Given the description of an element on the screen output the (x, y) to click on. 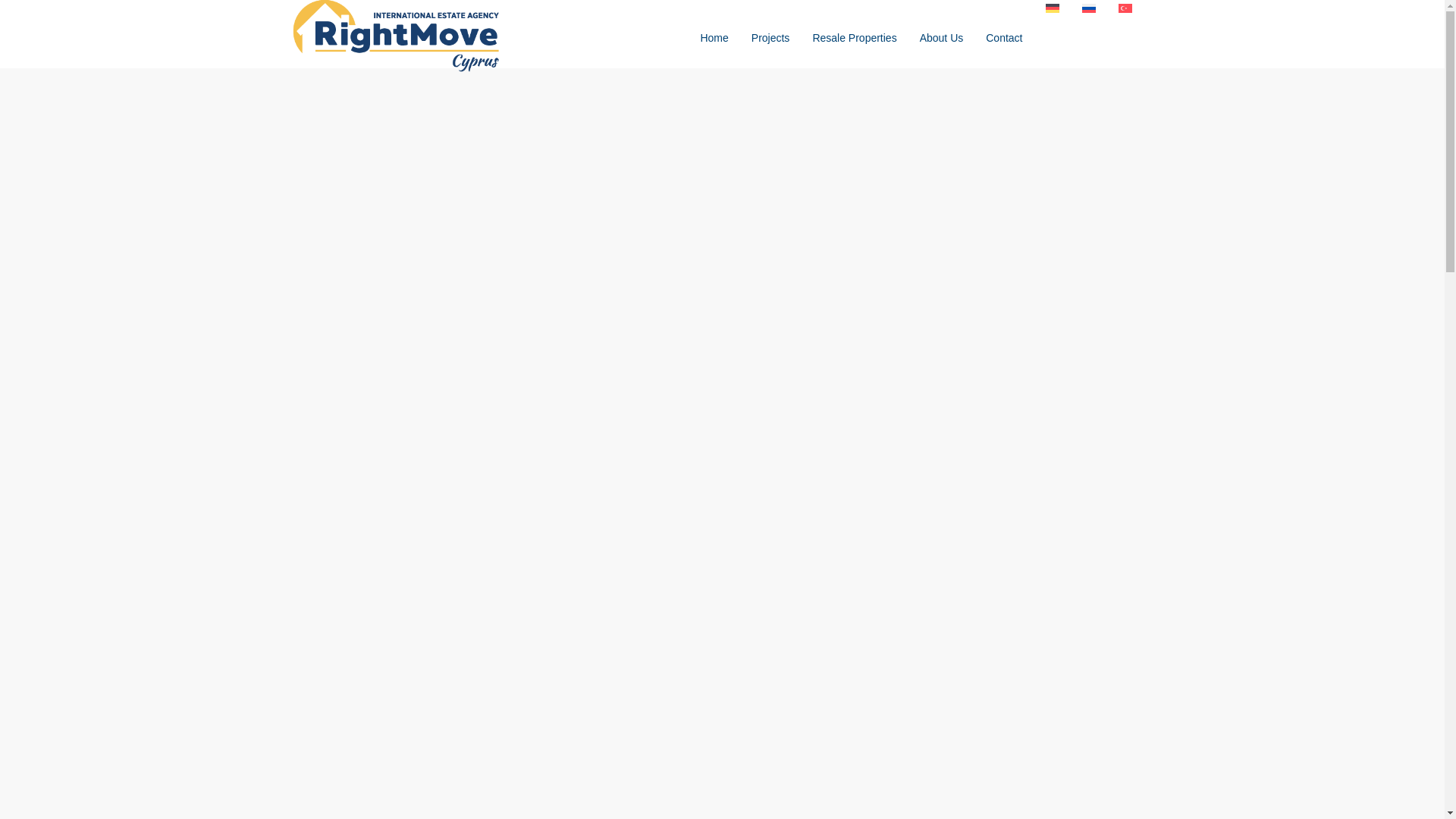
Resale Properties (853, 38)
Projects (770, 38)
About Us (941, 38)
